Given the description of an element on the screen output the (x, y) to click on. 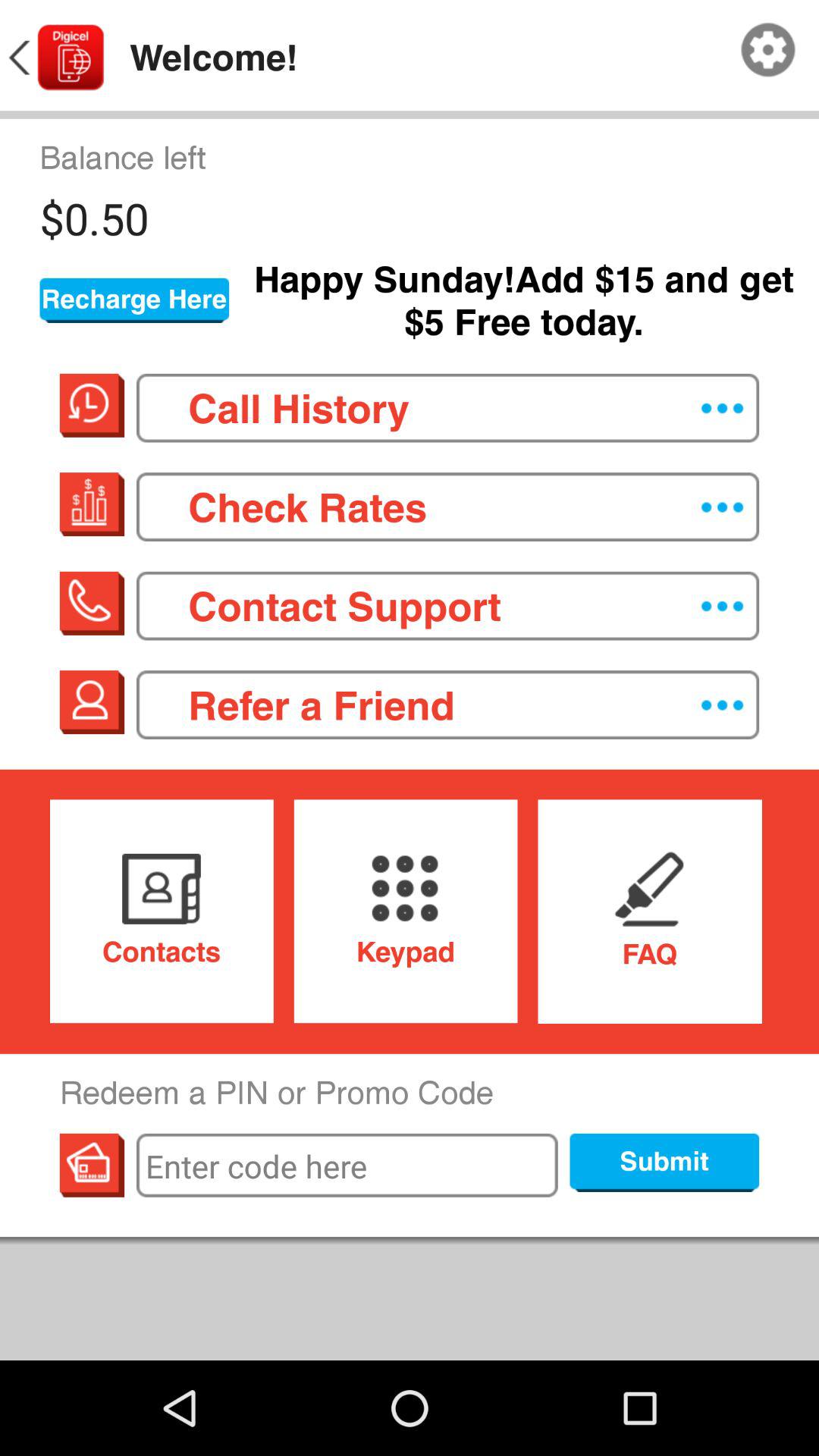
go back (54, 57)
